Given the description of an element on the screen output the (x, y) to click on. 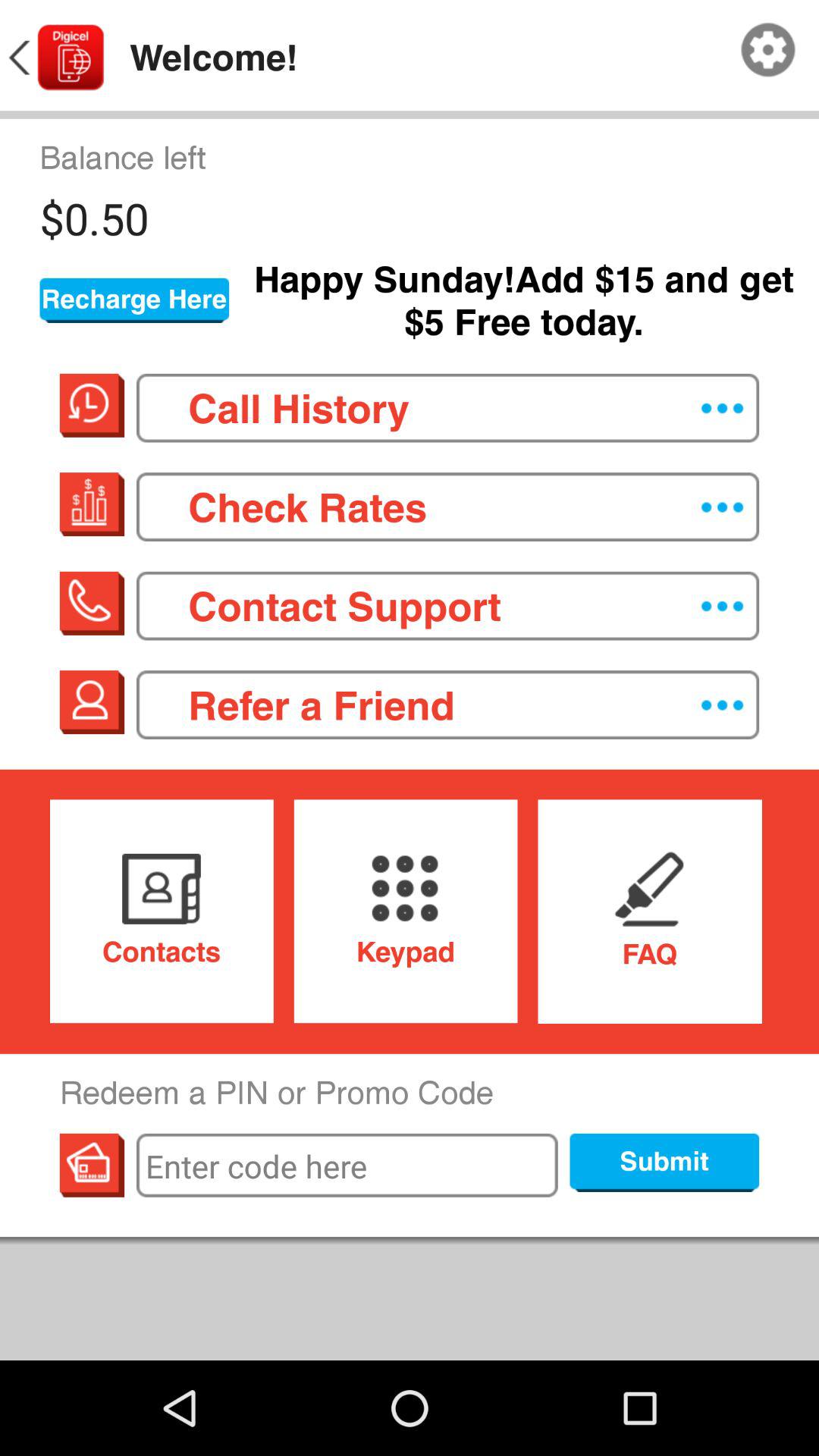
go back (54, 57)
